Given the description of an element on the screen output the (x, y) to click on. 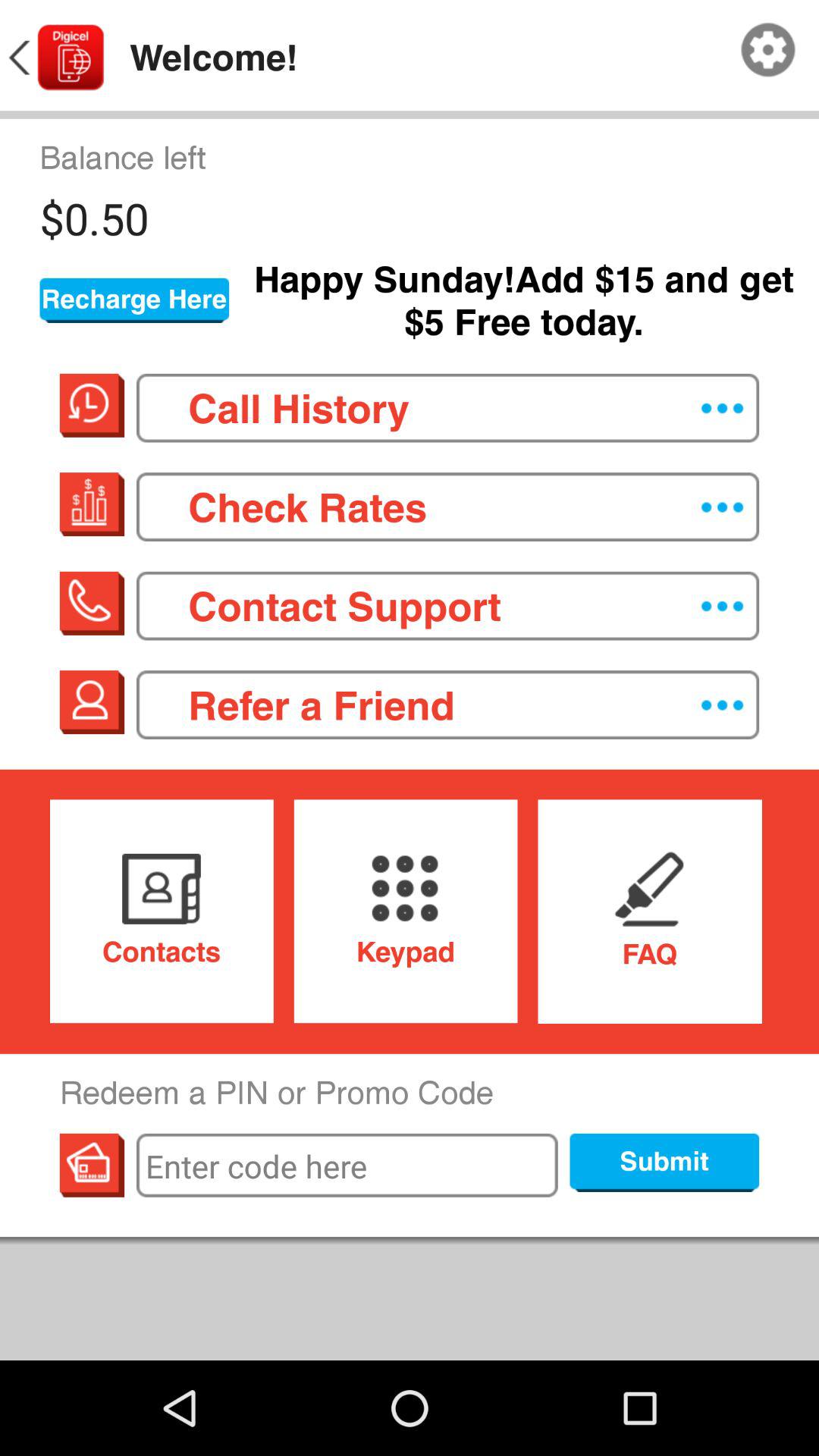
go back (54, 57)
